Given the description of an element on the screen output the (x, y) to click on. 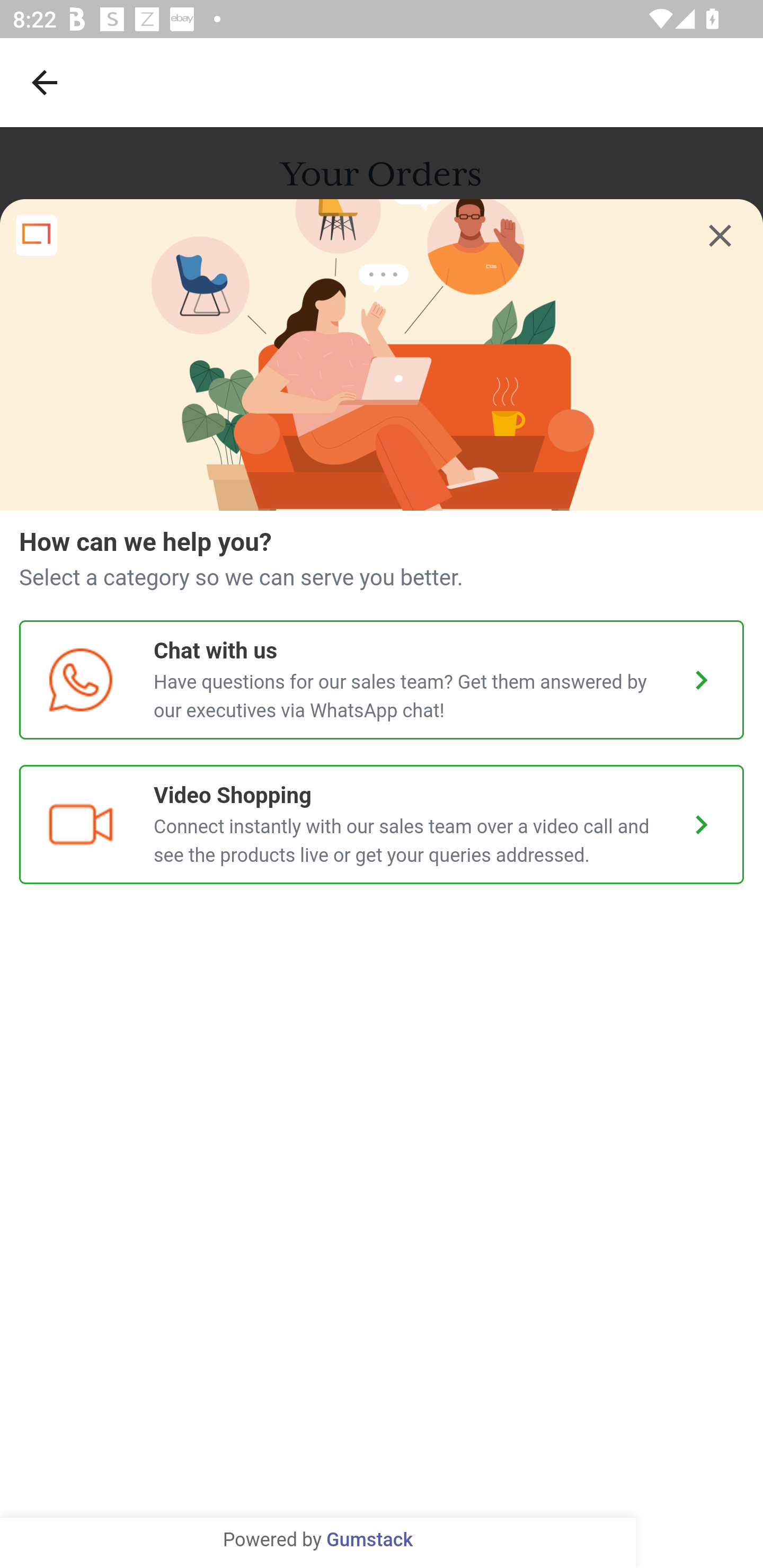
Navigate up (44, 82)
clear (720, 235)
Gumstack (369, 1540)
